Given the description of an element on the screen output the (x, y) to click on. 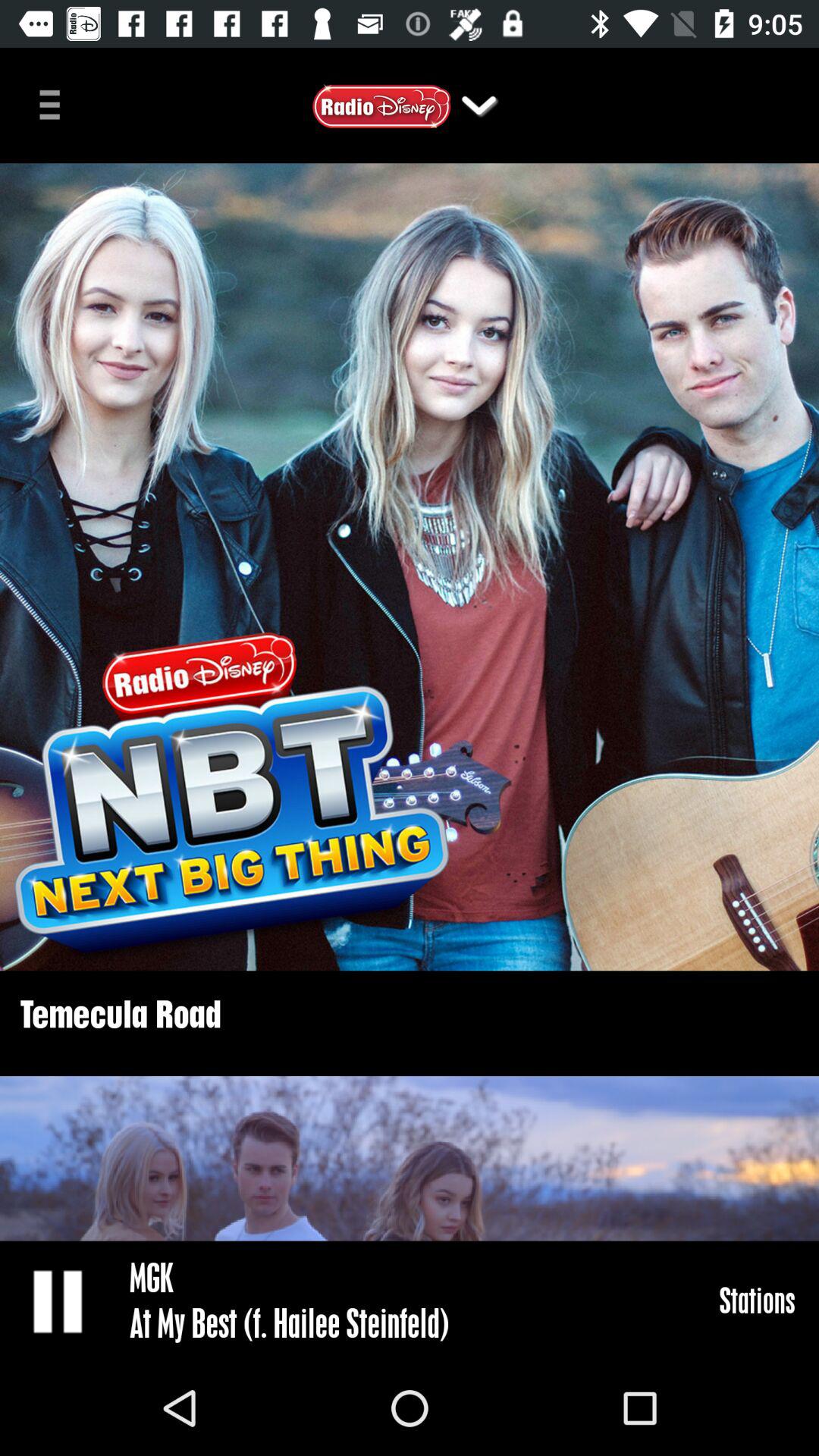
open icon at the bottom left corner (59, 1300)
